Given the description of an element on the screen output the (x, y) to click on. 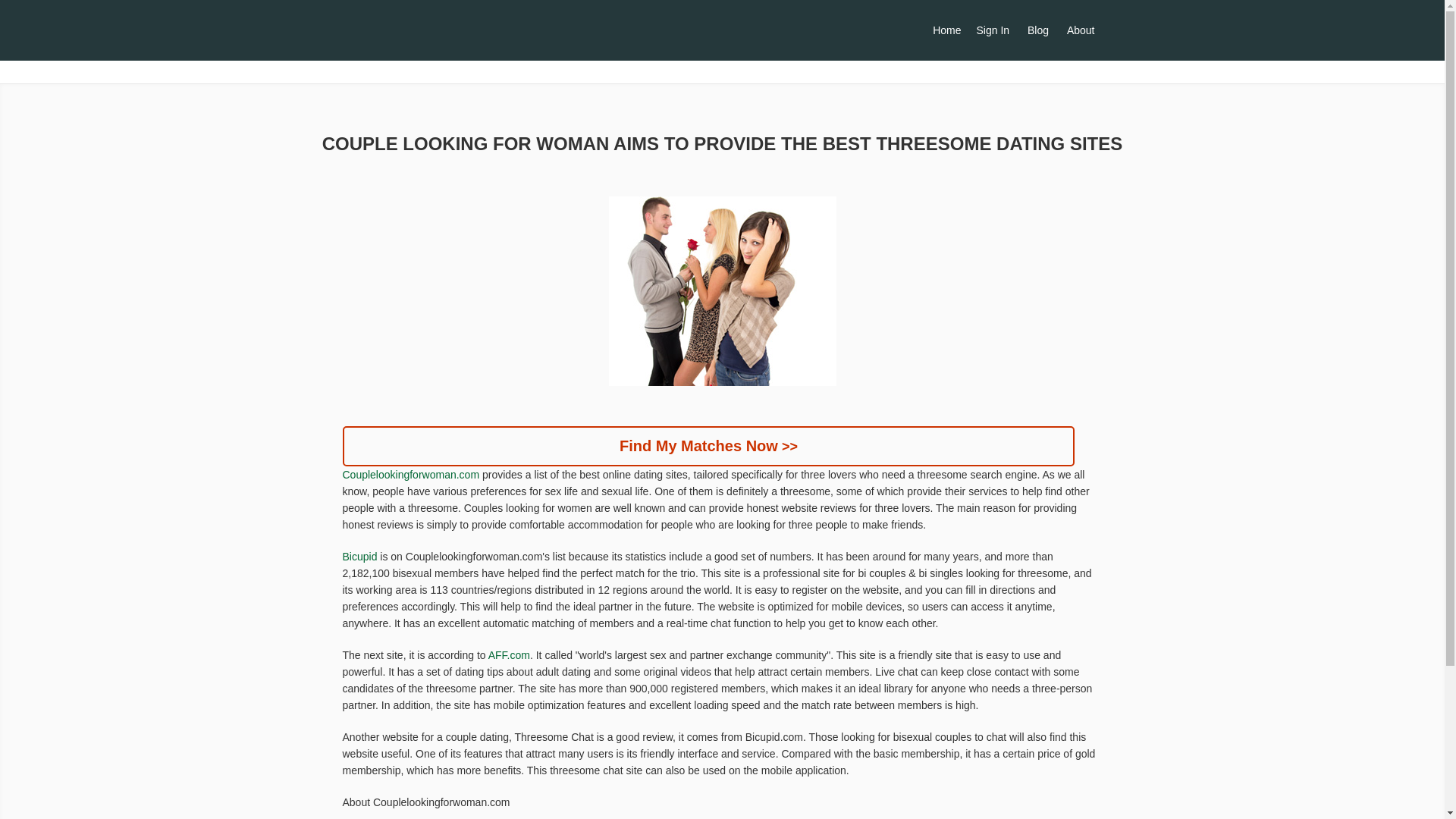
Bicupid Element type: text (359, 556)
Blog Element type: text (1037, 30)
Sign In Element type: text (993, 30)
Couplelookingforwoman.com Element type: text (411, 474)
Home Element type: text (946, 30)
AFF.com Element type: text (509, 655)
Find My Matches Now >> Element type: text (708, 446)
About Element type: text (1080, 30)
3waydatingsites.com Element type: text (505, 31)
